Given the description of an element on the screen output the (x, y) to click on. 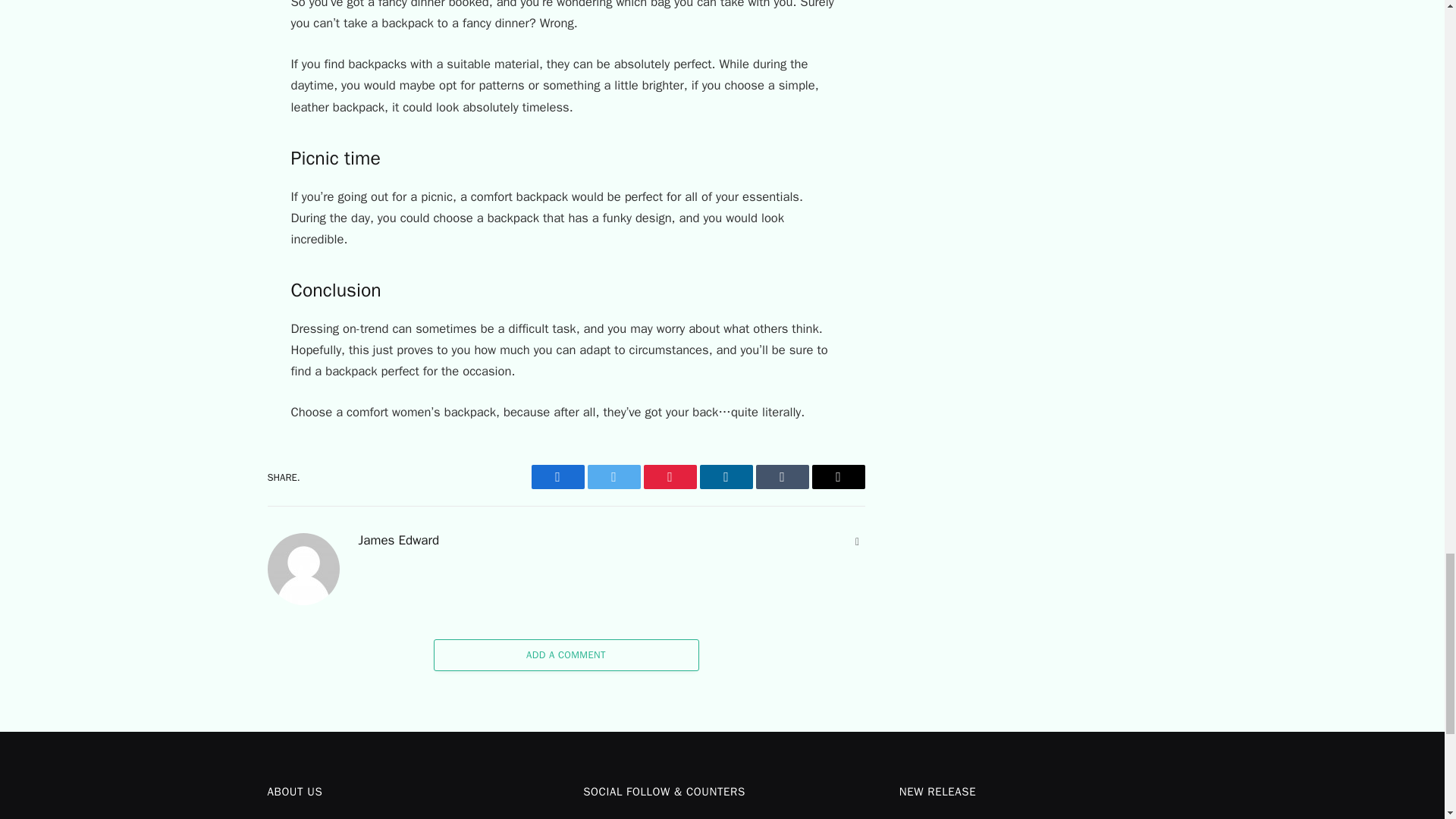
Facebook (557, 476)
